Given the description of an element on the screen output the (x, y) to click on. 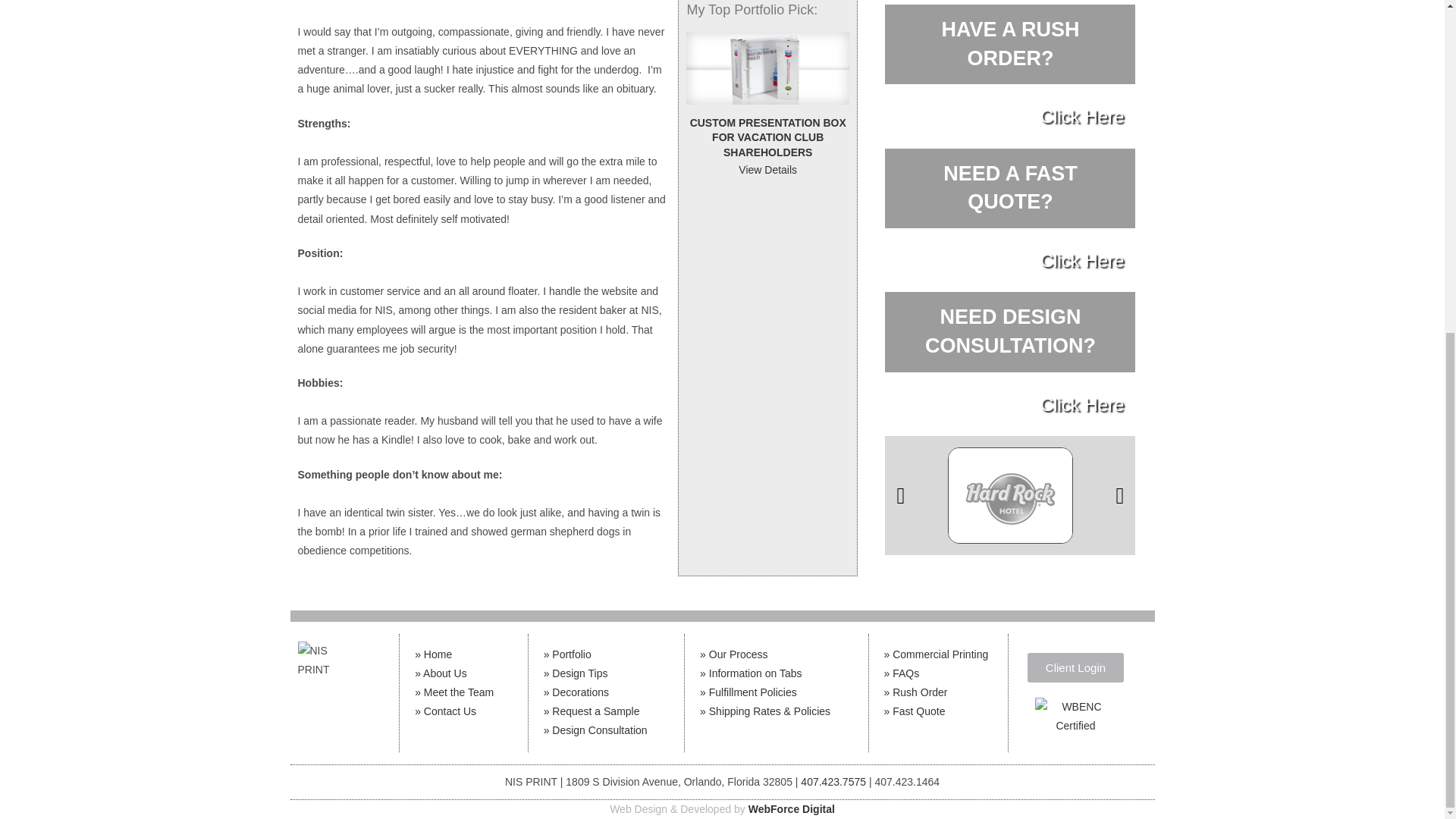
Portfolio (567, 654)
Client Login (1075, 667)
Design Tips (575, 673)
Click Here (1082, 403)
Design Consultation (595, 729)
WebForce Digital (791, 808)
Information on Tabs (751, 673)
Our Process (1009, 43)
Click Here (1010, 187)
CUSTOM PRESENTATION BOX FOR VACATION CLUB SHAREHOLDERS (733, 654)
Home (1082, 260)
View Details (767, 137)
Meet the Team (432, 654)
